Given the description of an element on the screen output the (x, y) to click on. 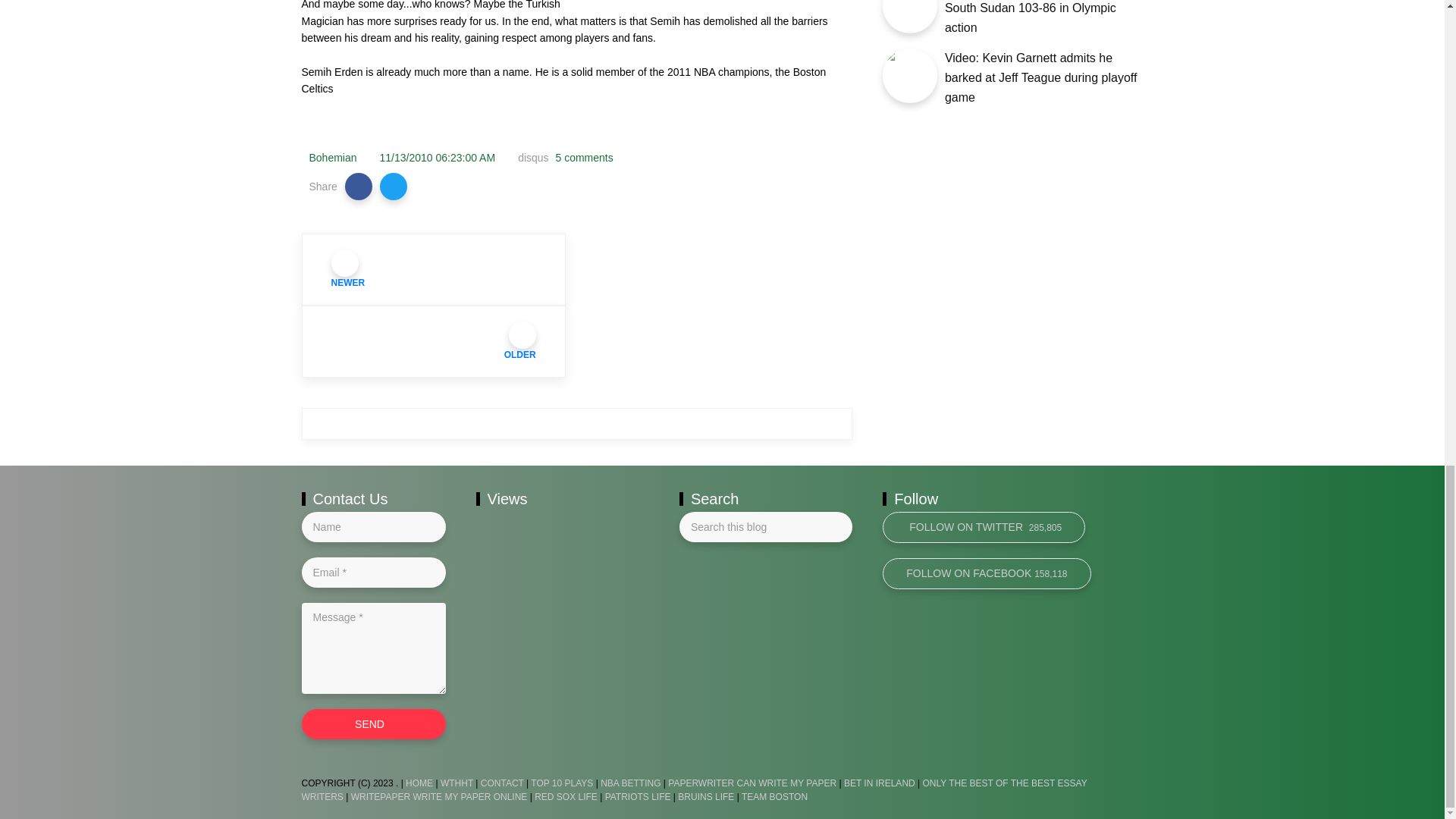
author profile (332, 157)
OLDER (433, 341)
5 comments (582, 157)
Bohemian (332, 157)
Share to Facebook (358, 185)
NEWER (433, 269)
permanent link (438, 157)
Share to Twitter (393, 185)
